Given the description of an element on the screen output the (x, y) to click on. 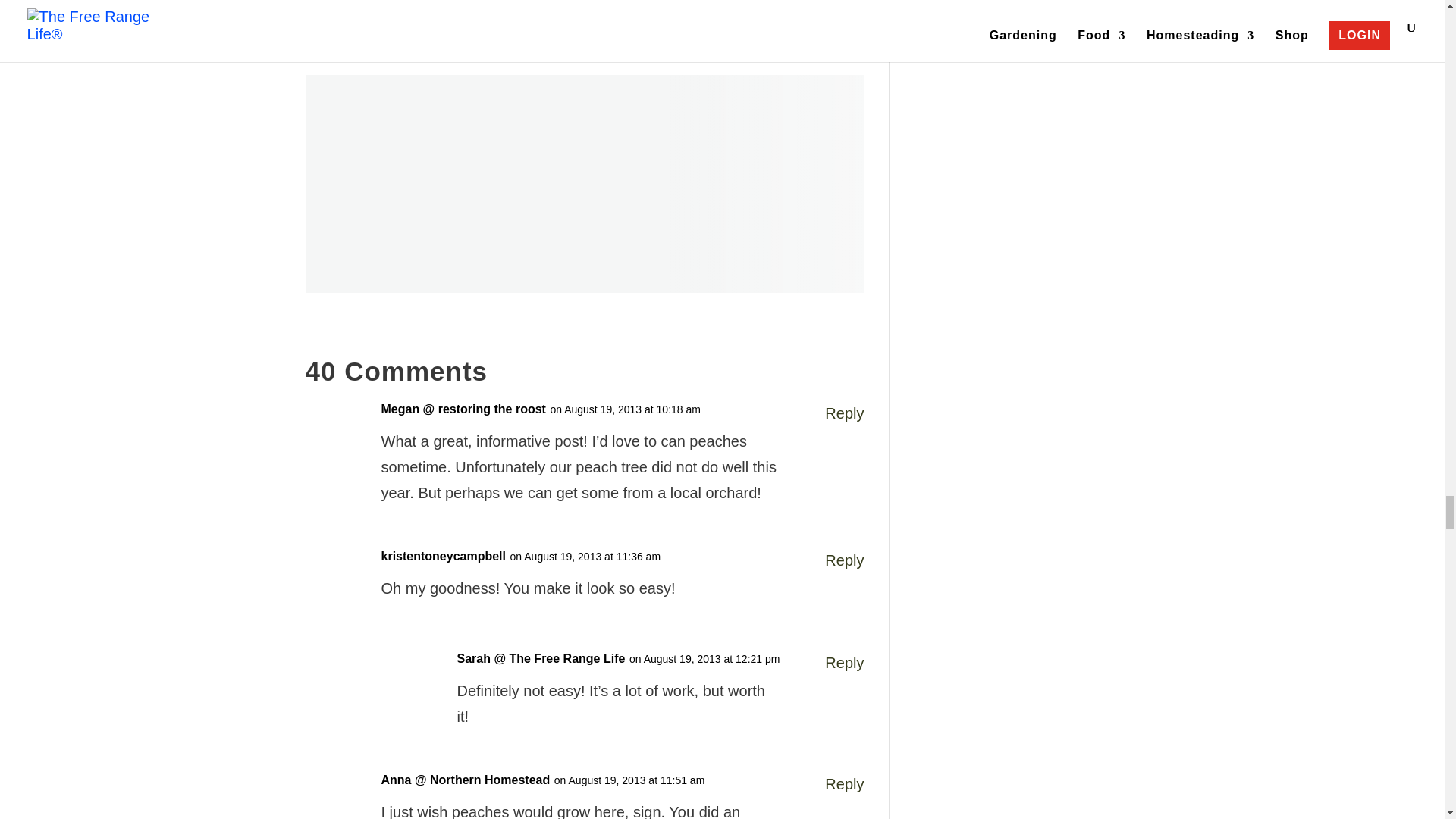
Reply (844, 560)
Reply (844, 783)
Reply (844, 662)
Reply (844, 412)
